Given the description of an element on the screen output the (x, y) to click on. 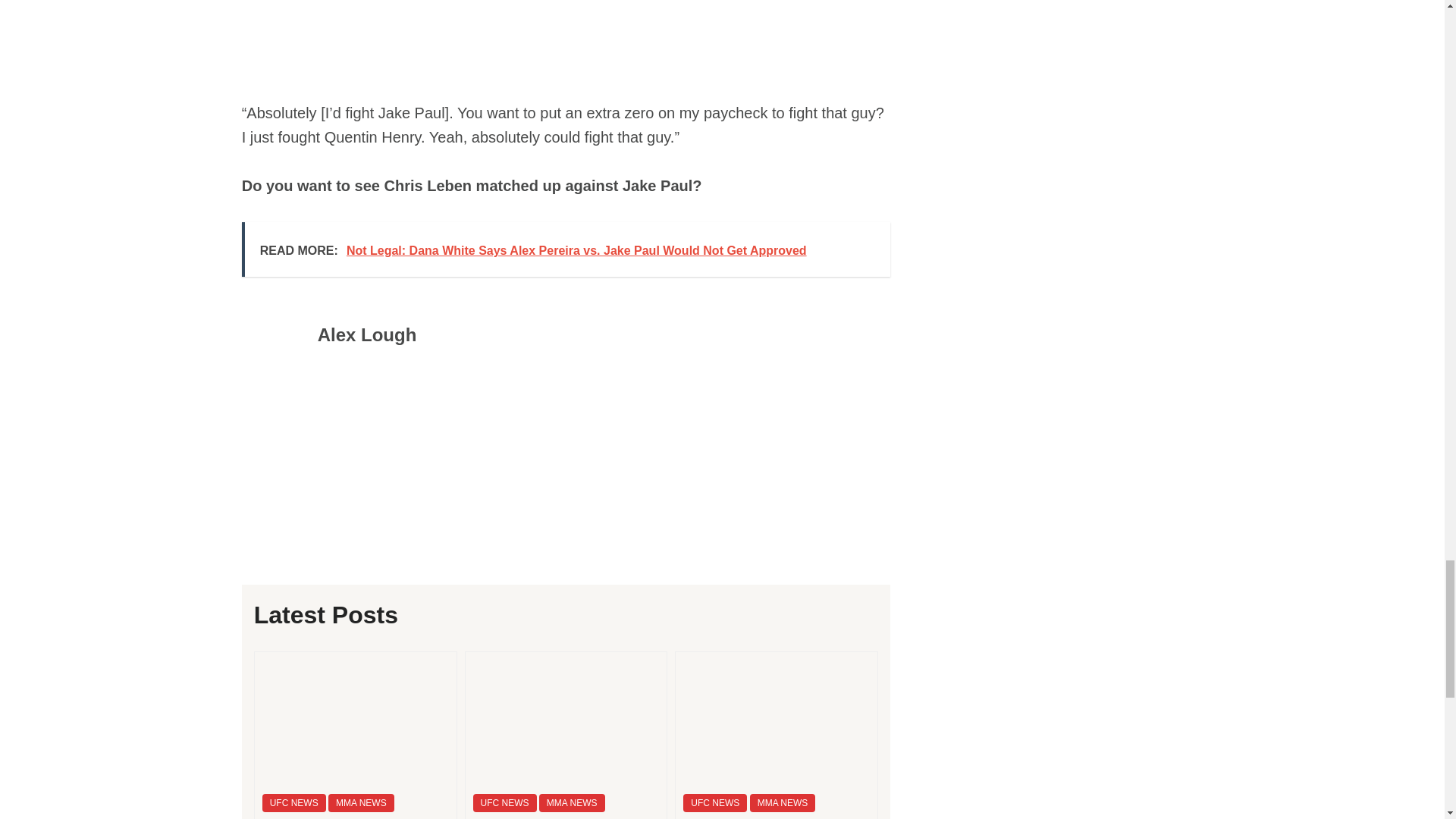
Posts by Alex Lough (366, 334)
